Given the description of an element on the screen output the (x, y) to click on. 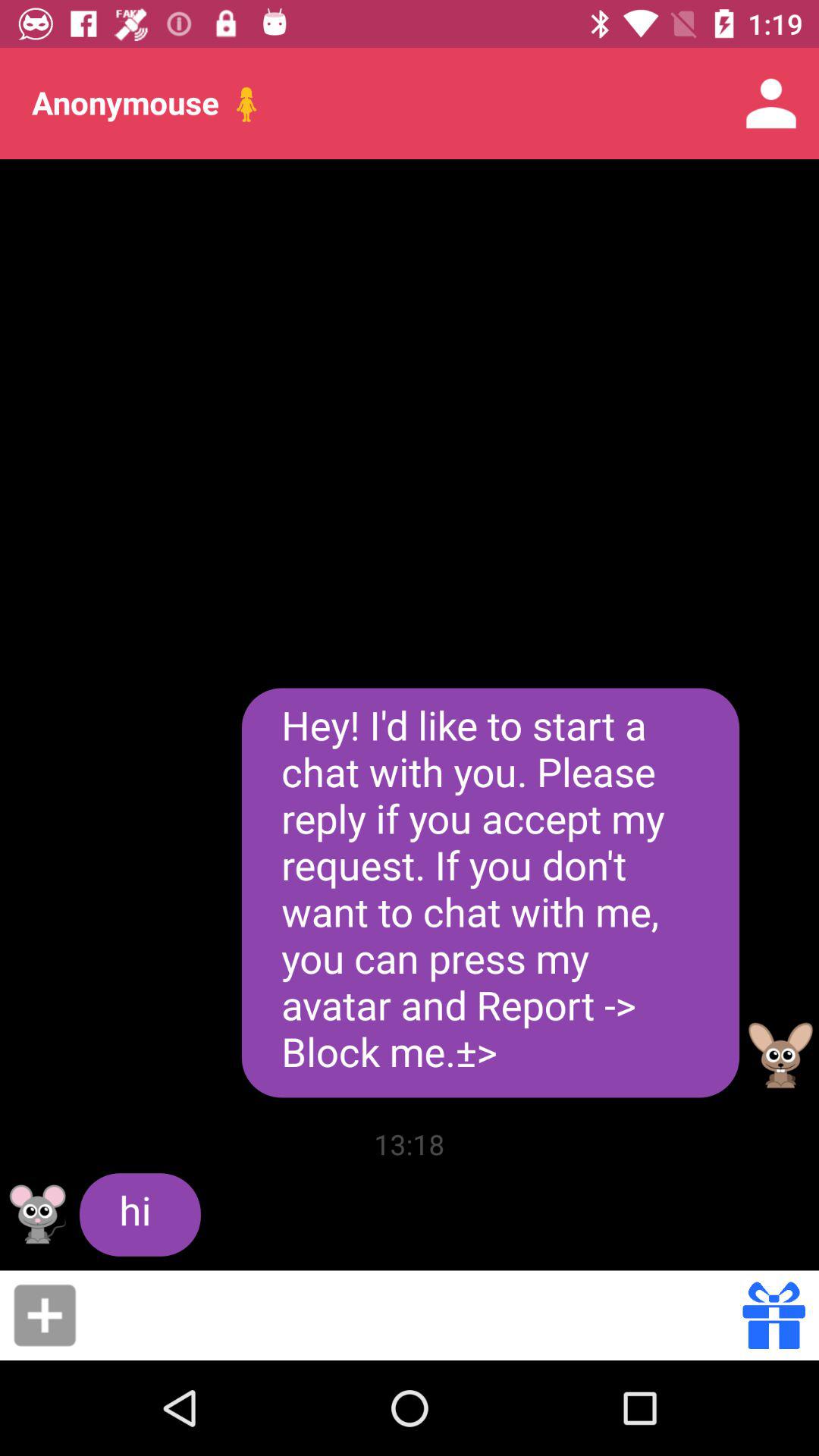
enter chat message (414, 1315)
